Given the description of an element on the screen output the (x, y) to click on. 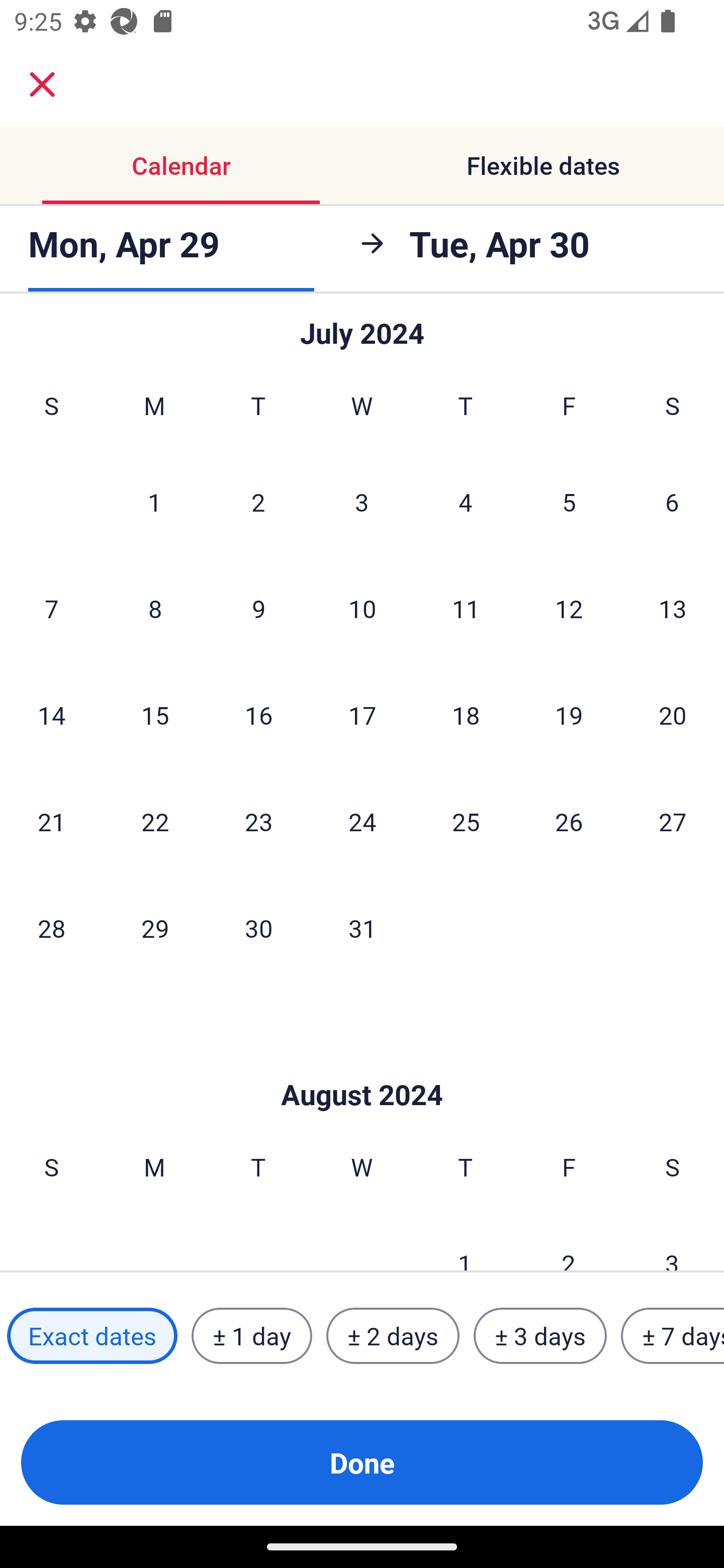
close. (42, 84)
Flexible dates (542, 164)
1 Monday, July 1, 2024 (154, 501)
2 Tuesday, July 2, 2024 (257, 501)
3 Wednesday, July 3, 2024 (361, 501)
4 Thursday, July 4, 2024 (465, 501)
5 Friday, July 5, 2024 (568, 501)
6 Saturday, July 6, 2024 (672, 501)
7 Sunday, July 7, 2024 (51, 608)
8 Monday, July 8, 2024 (155, 608)
9 Tuesday, July 9, 2024 (258, 608)
10 Wednesday, July 10, 2024 (362, 608)
11 Thursday, July 11, 2024 (465, 608)
12 Friday, July 12, 2024 (569, 608)
13 Saturday, July 13, 2024 (672, 608)
14 Sunday, July 14, 2024 (51, 714)
15 Monday, July 15, 2024 (155, 714)
16 Tuesday, July 16, 2024 (258, 714)
17 Wednesday, July 17, 2024 (362, 714)
18 Thursday, July 18, 2024 (465, 714)
19 Friday, July 19, 2024 (569, 714)
20 Saturday, July 20, 2024 (672, 714)
21 Sunday, July 21, 2024 (51, 821)
22 Monday, July 22, 2024 (155, 821)
23 Tuesday, July 23, 2024 (258, 821)
24 Wednesday, July 24, 2024 (362, 821)
25 Thursday, July 25, 2024 (465, 821)
26 Friday, July 26, 2024 (569, 821)
27 Saturday, July 27, 2024 (672, 821)
28 Sunday, July 28, 2024 (51, 928)
29 Monday, July 29, 2024 (155, 928)
30 Tuesday, July 30, 2024 (258, 928)
31 Wednesday, July 31, 2024 (362, 928)
Skip to Done (362, 1064)
1 Thursday, August 1, 2024 (464, 1241)
2 Friday, August 2, 2024 (568, 1241)
3 Saturday, August 3, 2024 (672, 1241)
Exact dates (92, 1335)
± 1 day (251, 1335)
± 2 days (392, 1335)
± 3 days (539, 1335)
± 7 days (672, 1335)
Done (361, 1462)
